Given the description of an element on the screen output the (x, y) to click on. 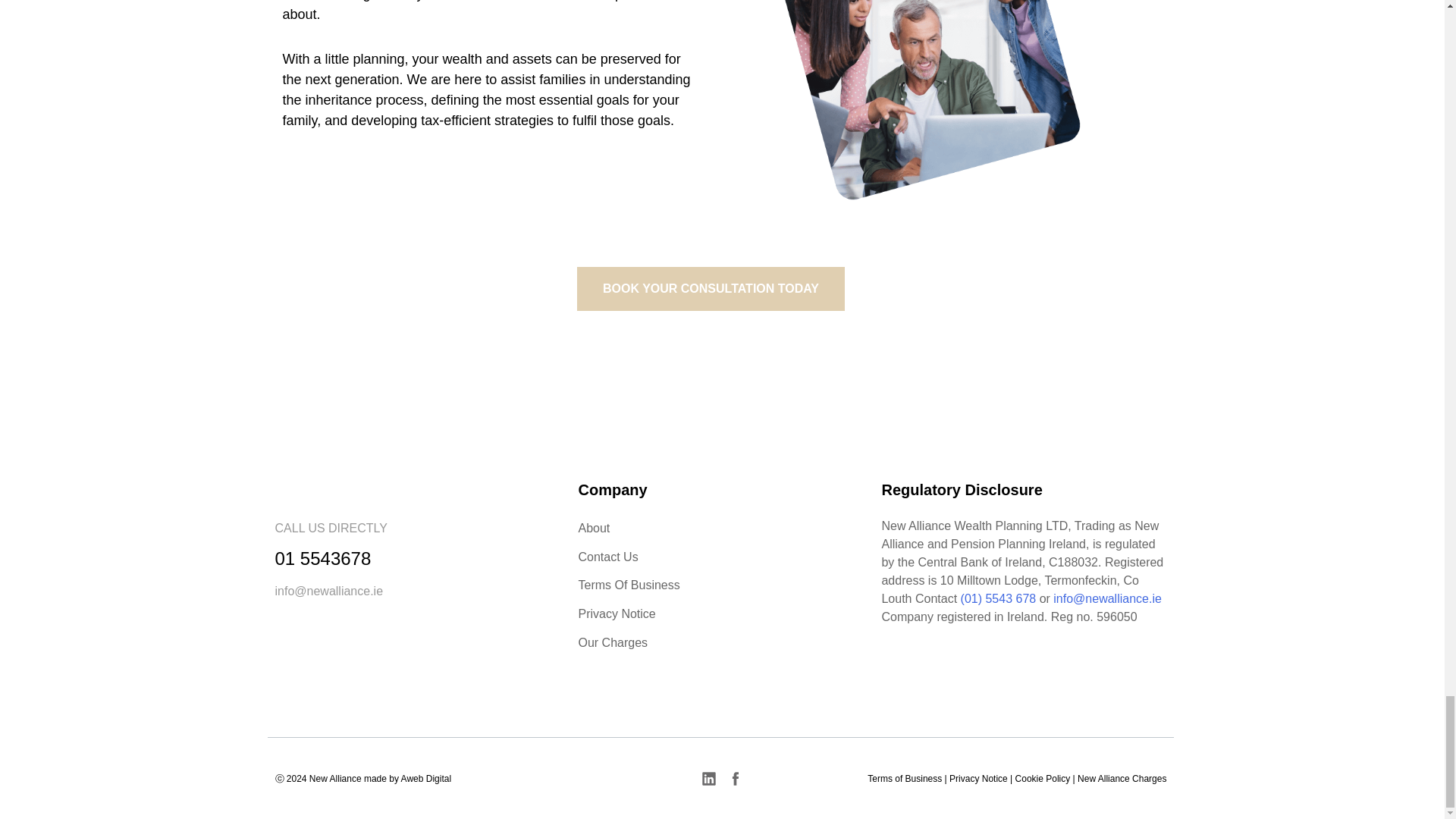
01 5543678 (323, 557)
Contact Us (722, 557)
About (722, 527)
BOOK YOUR CONSULTATION TODAY (710, 288)
